Given the description of an element on the screen output the (x, y) to click on. 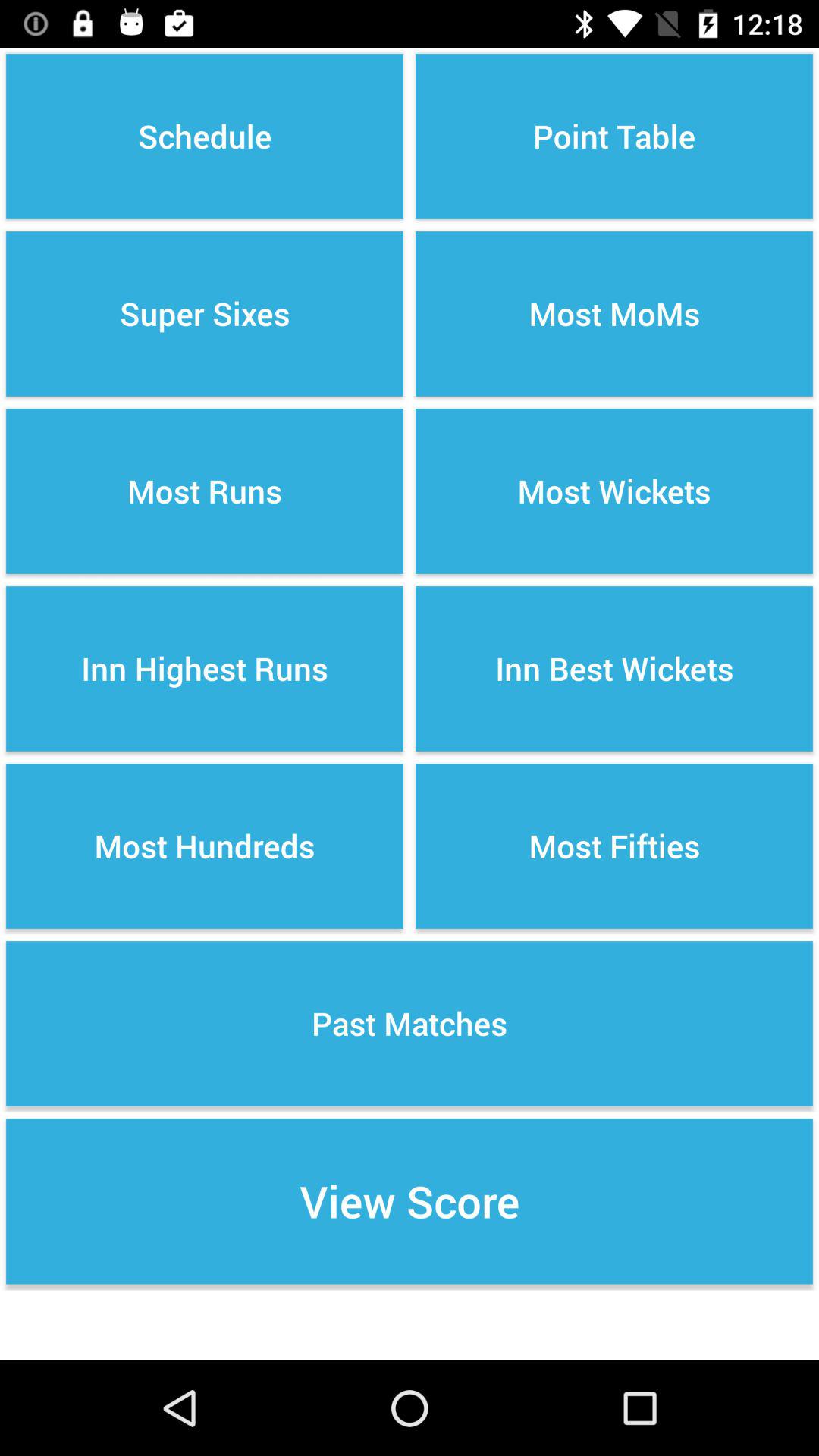
choose view score (409, 1201)
